Given the description of an element on the screen output the (x, y) to click on. 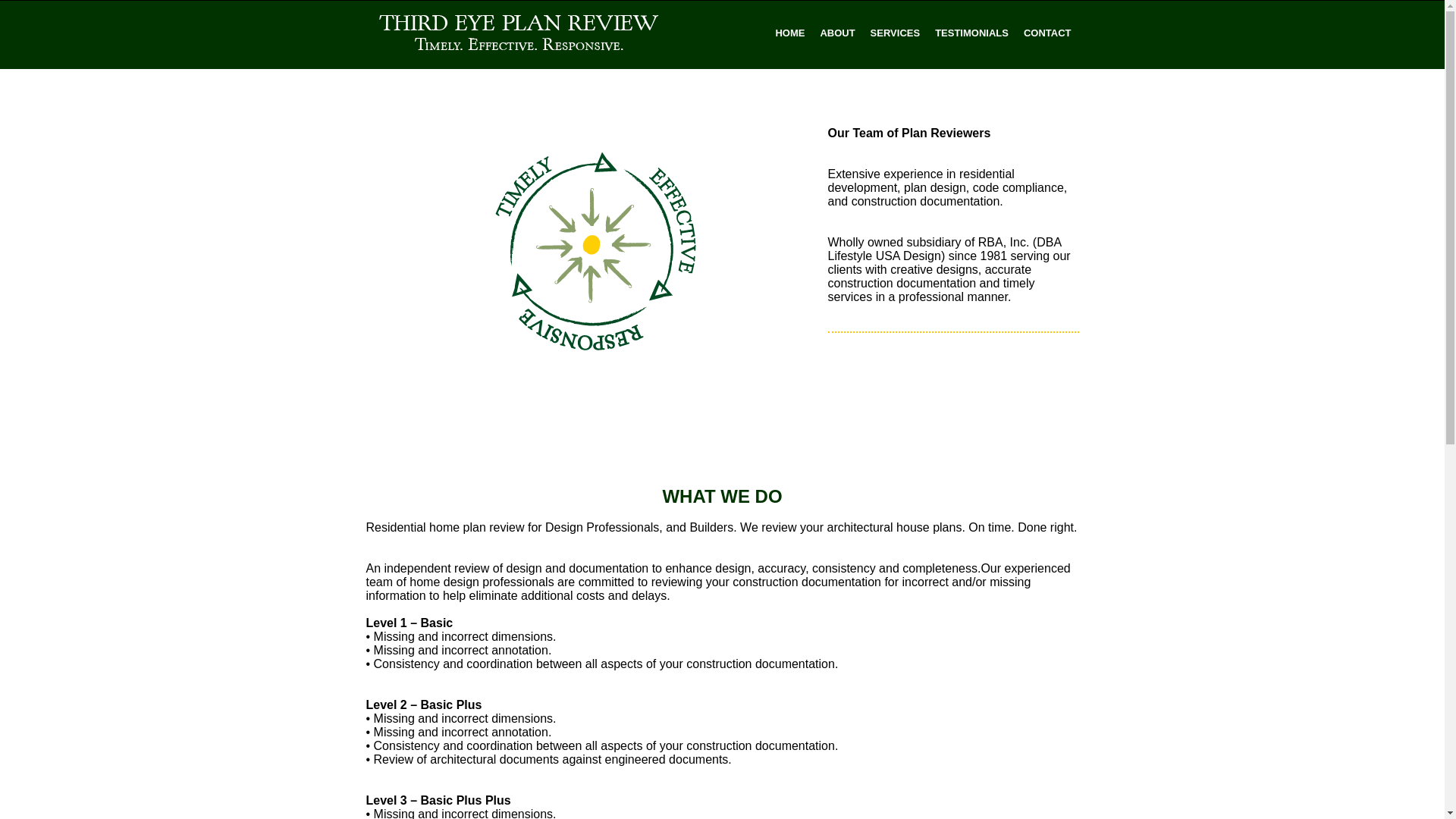
ABOUT Element type: text (837, 32)
SERVICES Element type: text (895, 32)
CONTACT Element type: text (1047, 32)
HOME Element type: text (789, 32)
TESTIMONIALS Element type: text (971, 32)
